Given the description of an element on the screen output the (x, y) to click on. 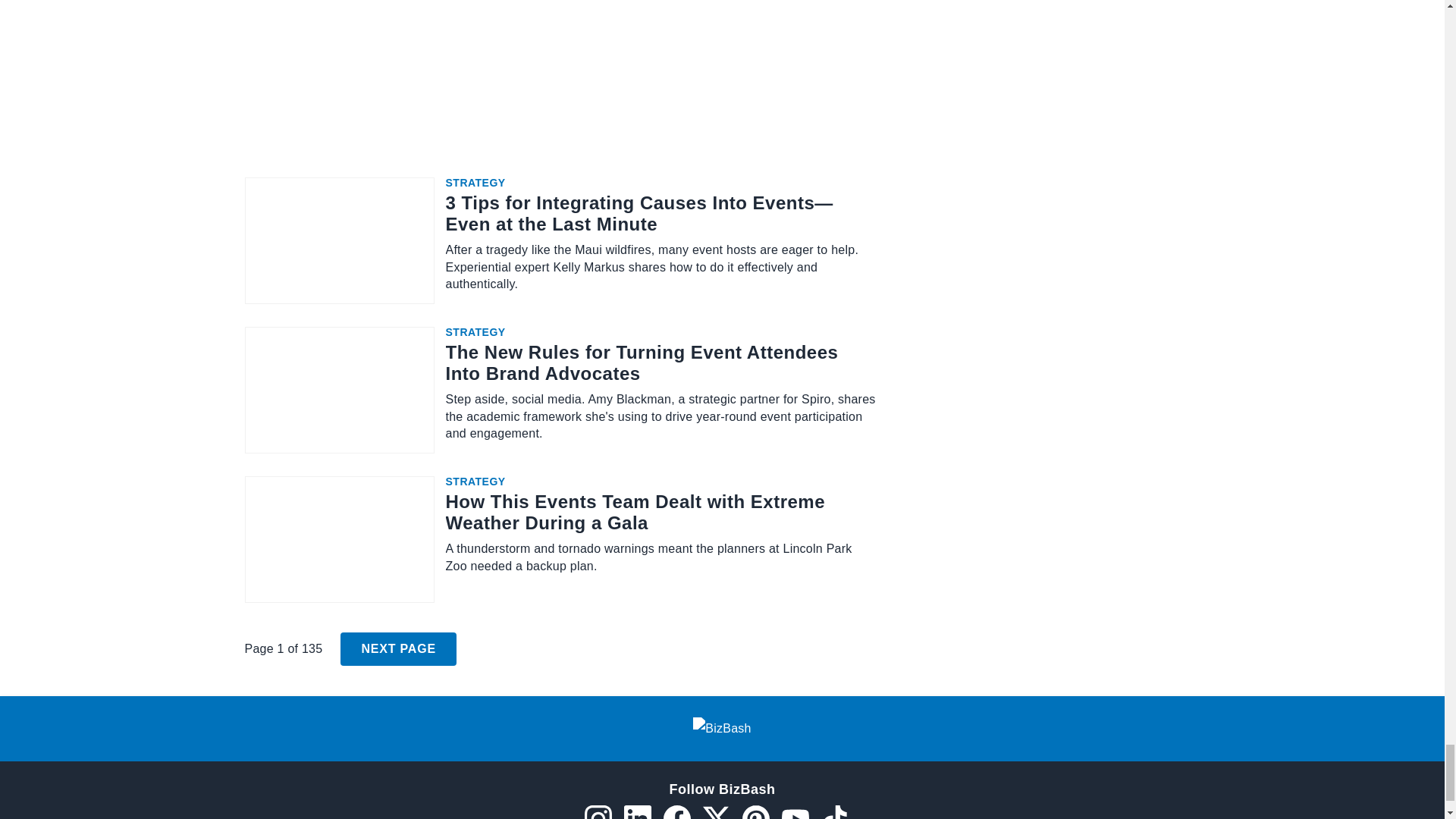
Twitter X icon (715, 812)
LinkedIn icon (636, 812)
Facebook icon (676, 812)
Pinterest icon (754, 812)
Instagram icon (597, 812)
YouTube icon (794, 812)
TikTok (834, 812)
